Given the description of an element on the screen output the (x, y) to click on. 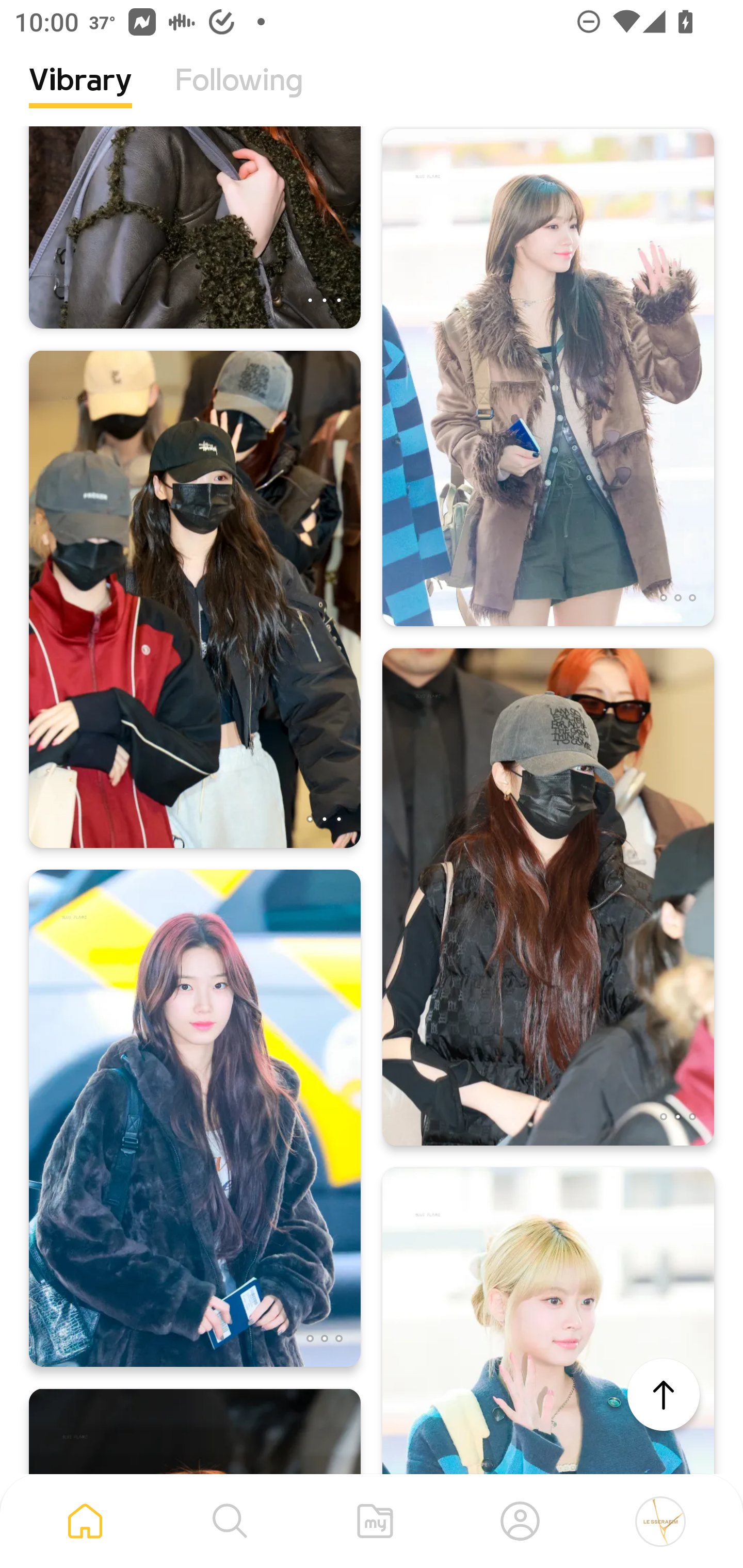
Vibrary (80, 95)
Following (239, 95)
